Given the description of an element on the screen output the (x, y) to click on. 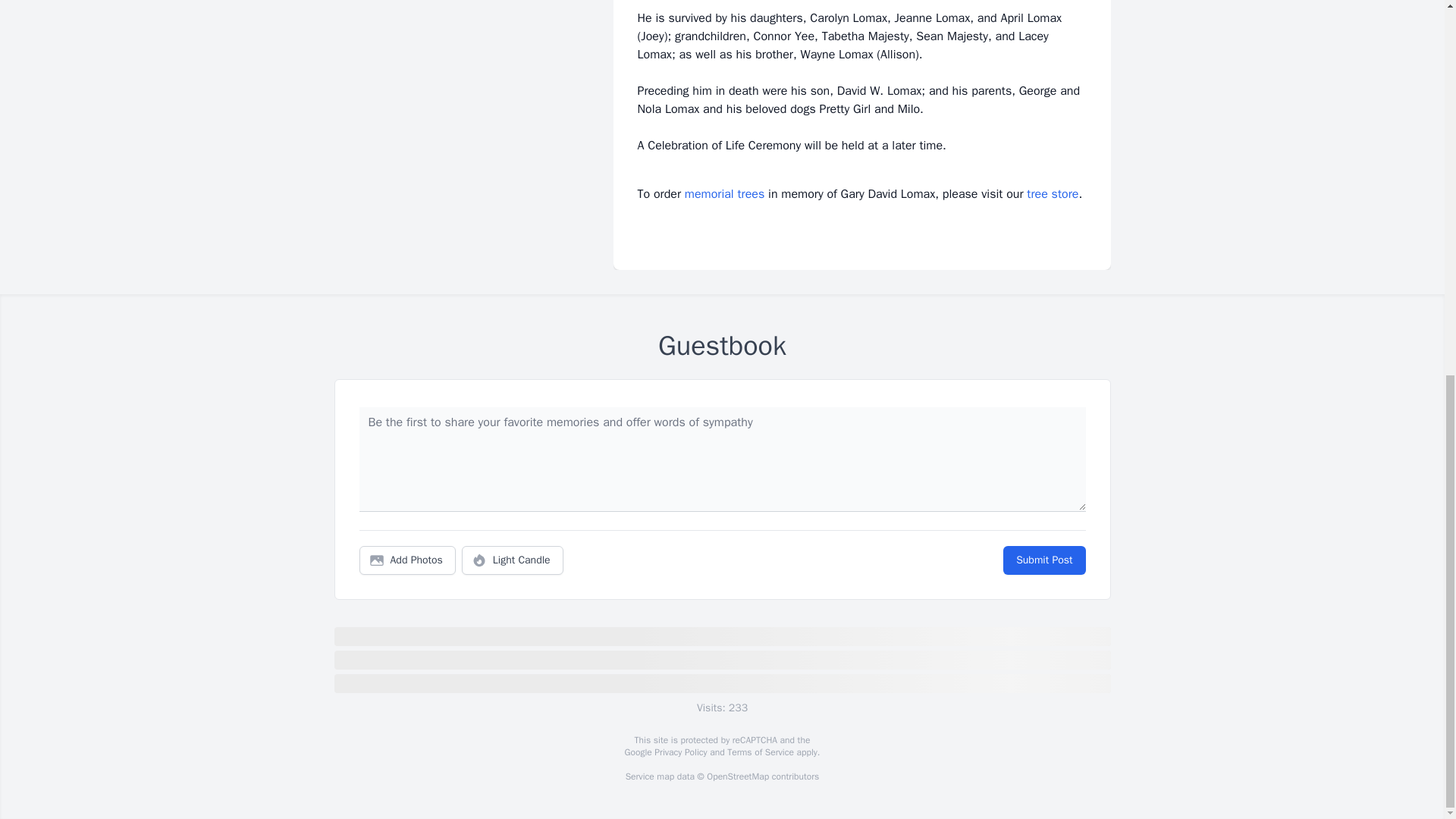
Add Photos (407, 560)
memorial trees (724, 193)
Light Candle (512, 560)
OpenStreetMap (737, 776)
Terms of Service (759, 752)
Submit Post (1043, 560)
tree store (1052, 193)
Privacy Policy (679, 752)
